Given the description of an element on the screen output the (x, y) to click on. 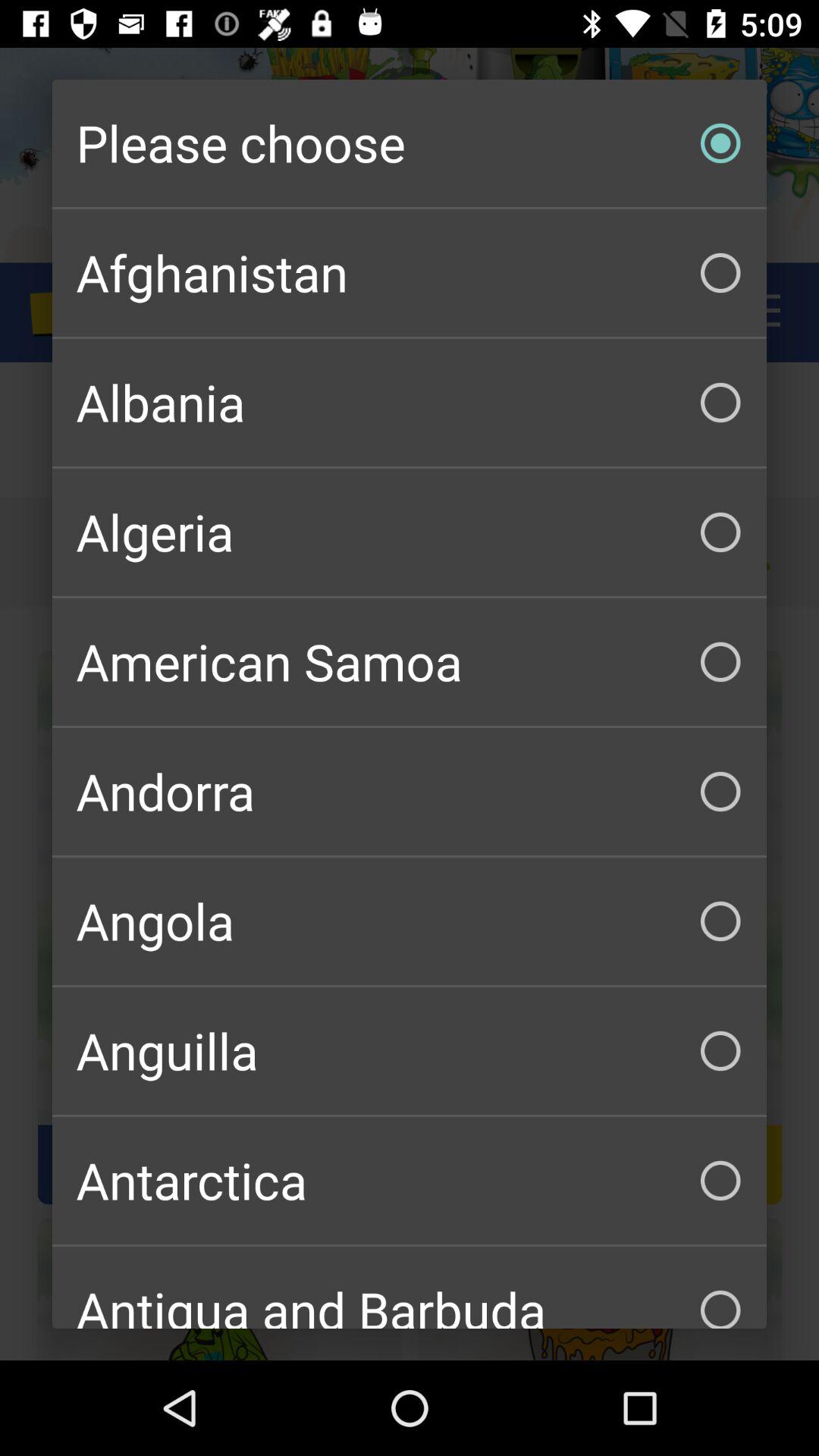
turn on checkbox above the albania (409, 272)
